Given the description of an element on the screen output the (x, y) to click on. 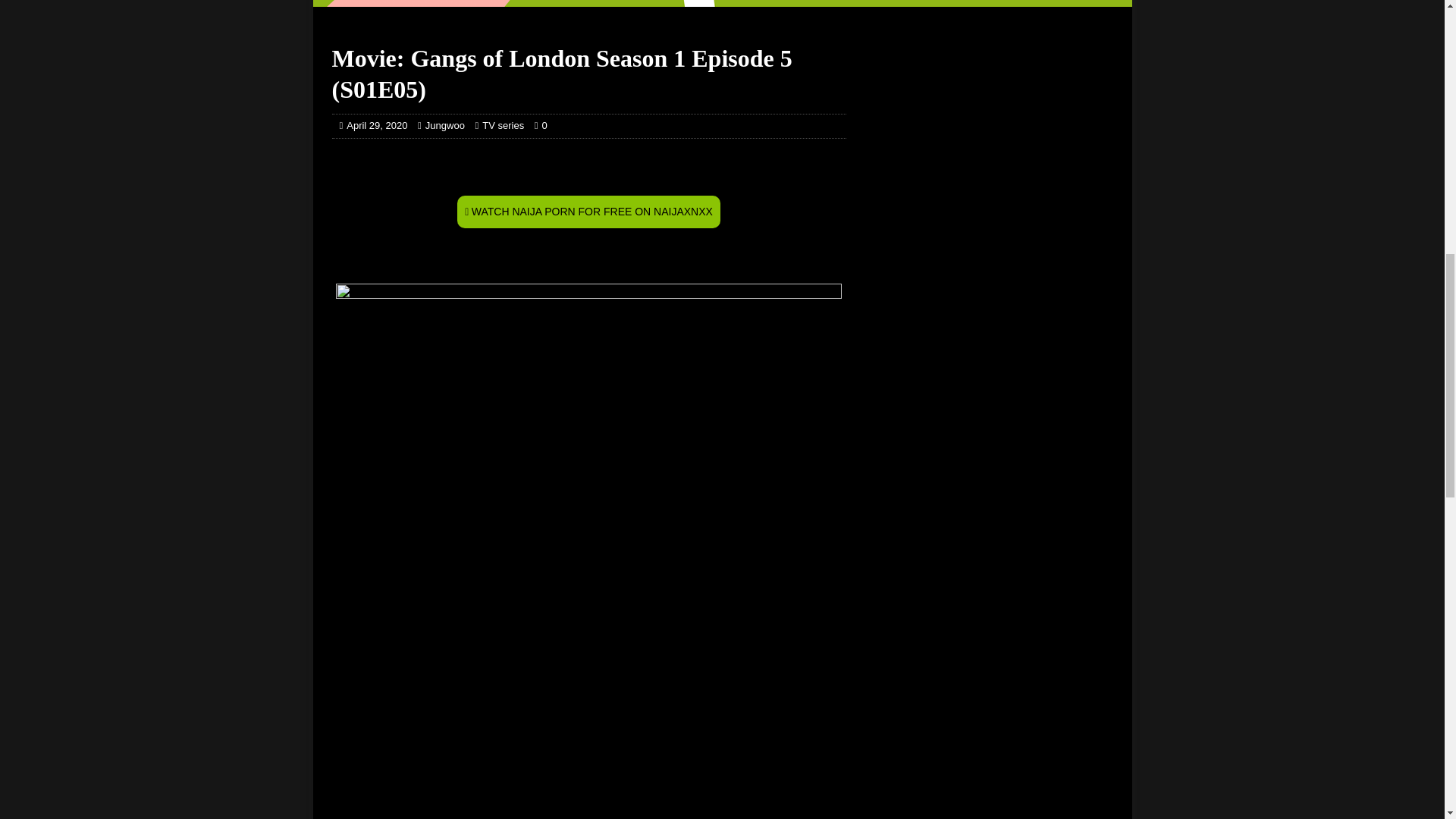
0 (544, 125)
April 29, 2020 (376, 125)
WATCH NAIJA PORN FOR FREE ON NAIJAXNXX (588, 211)
TV series (502, 125)
Jungwoo (444, 125)
0 (544, 125)
